Given the description of an element on the screen output the (x, y) to click on. 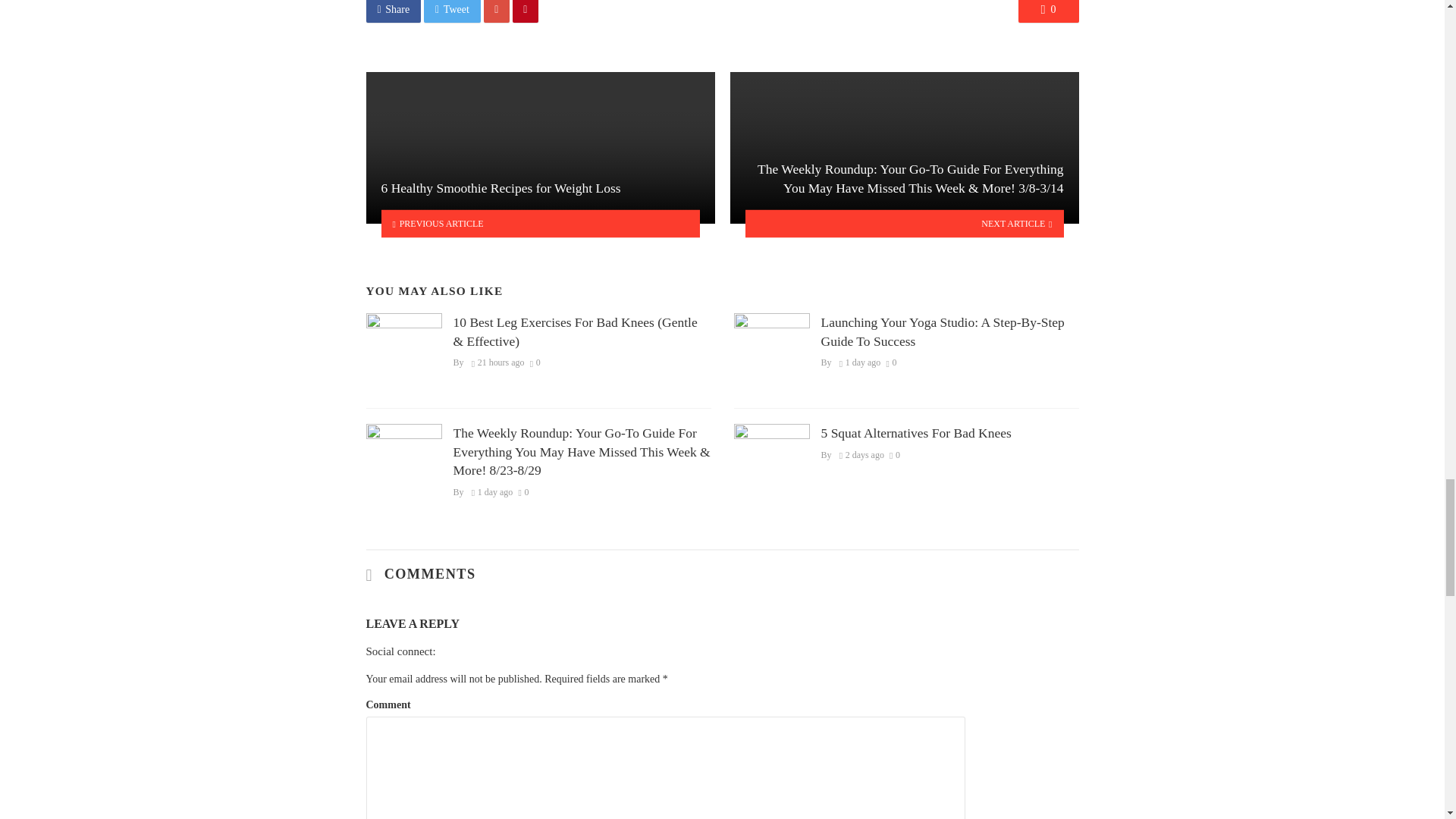
Tweet (451, 11)
0 (1047, 11)
Share on Facebook (392, 11)
Share (392, 11)
Share on Twitter (451, 11)
